Given the description of an element on the screen output the (x, y) to click on. 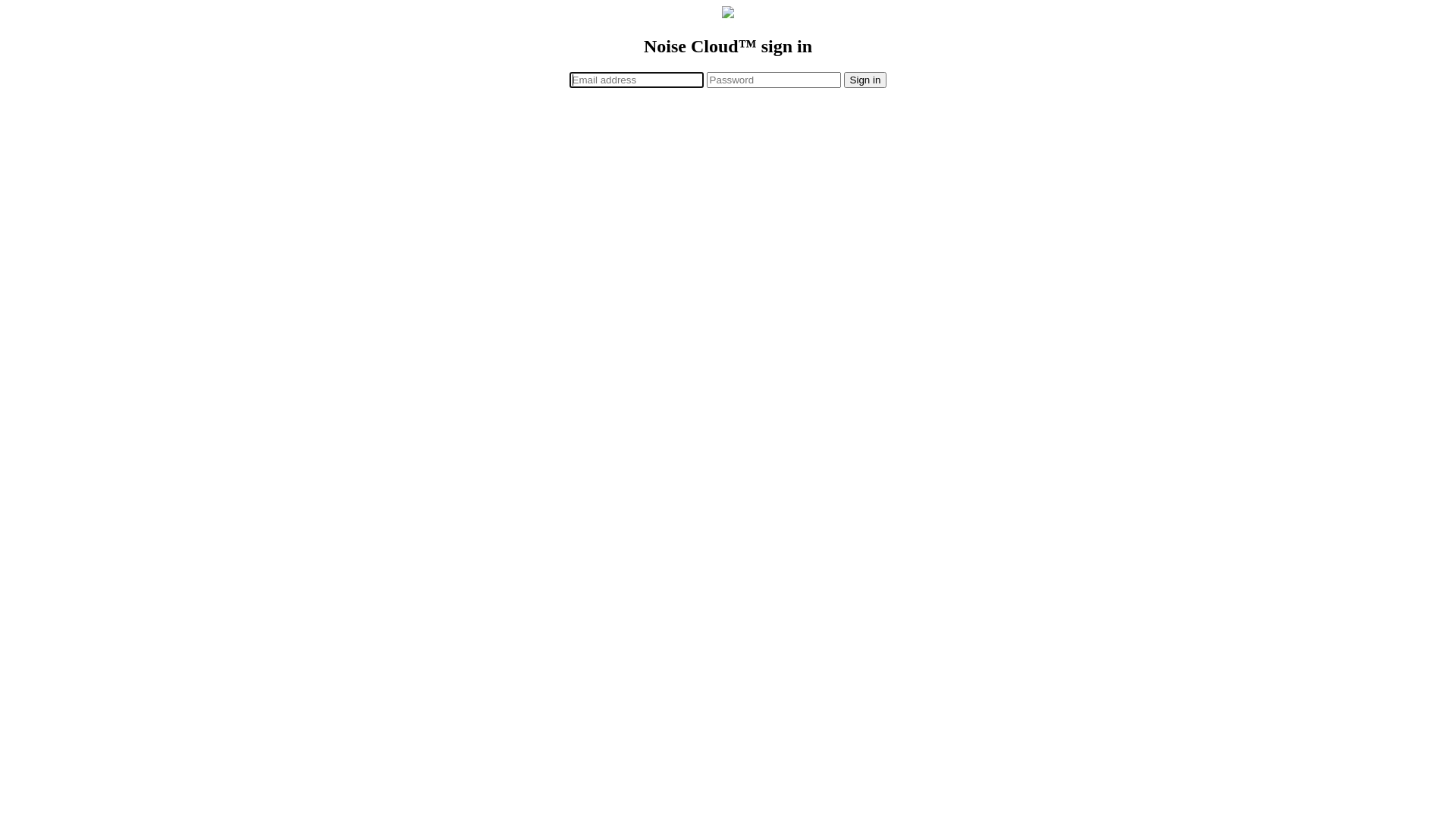
Sign in Element type: text (865, 79)
